Given the description of an element on the screen output the (x, y) to click on. 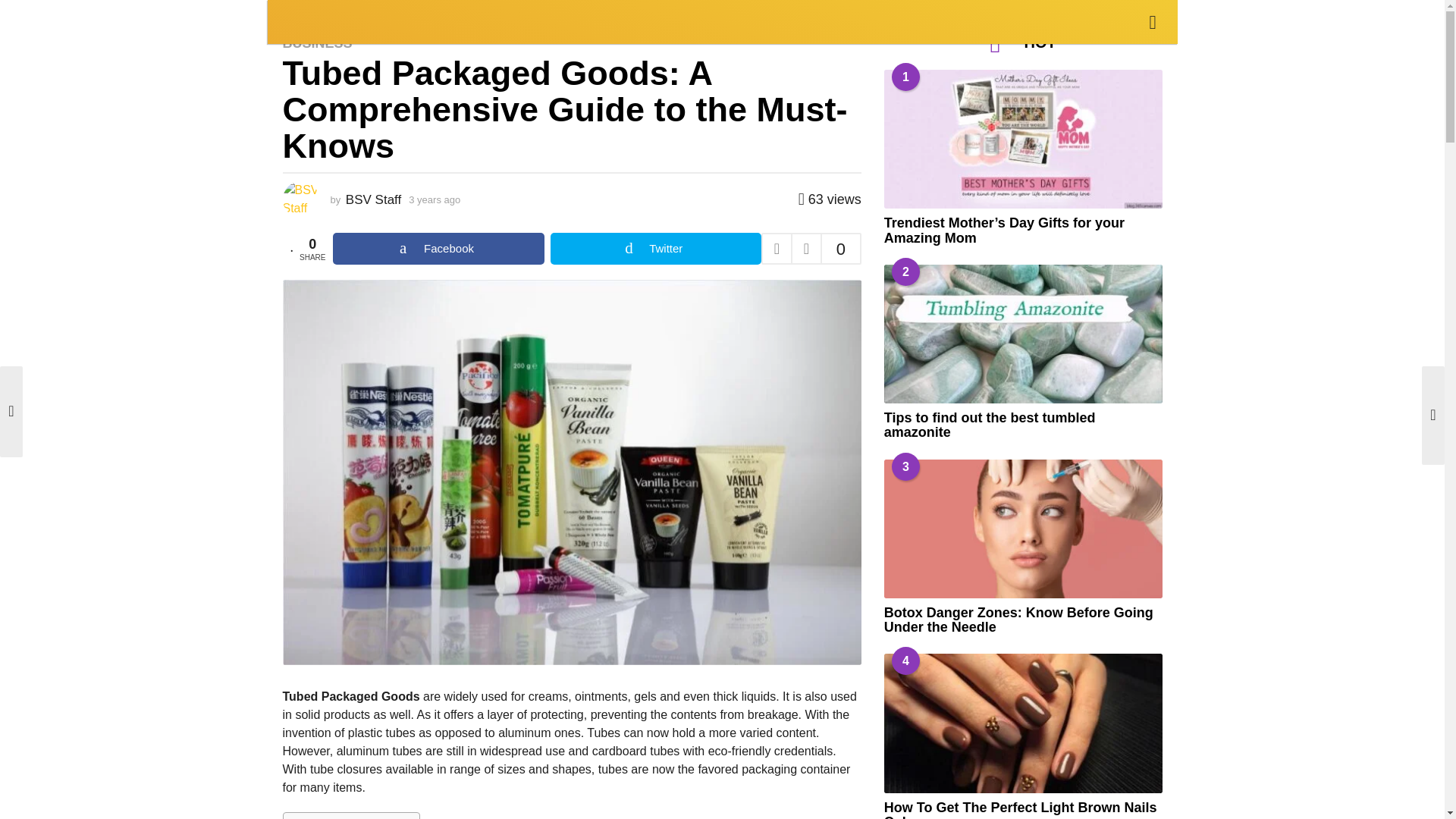
BUSINESS (317, 43)
Share on Twitter (655, 248)
Facebook (438, 248)
BSV Staff (373, 199)
HOME (298, 19)
Share on Facebook (438, 248)
BUSINESS (361, 19)
Twitter (655, 248)
